Given the description of an element on the screen output the (x, y) to click on. 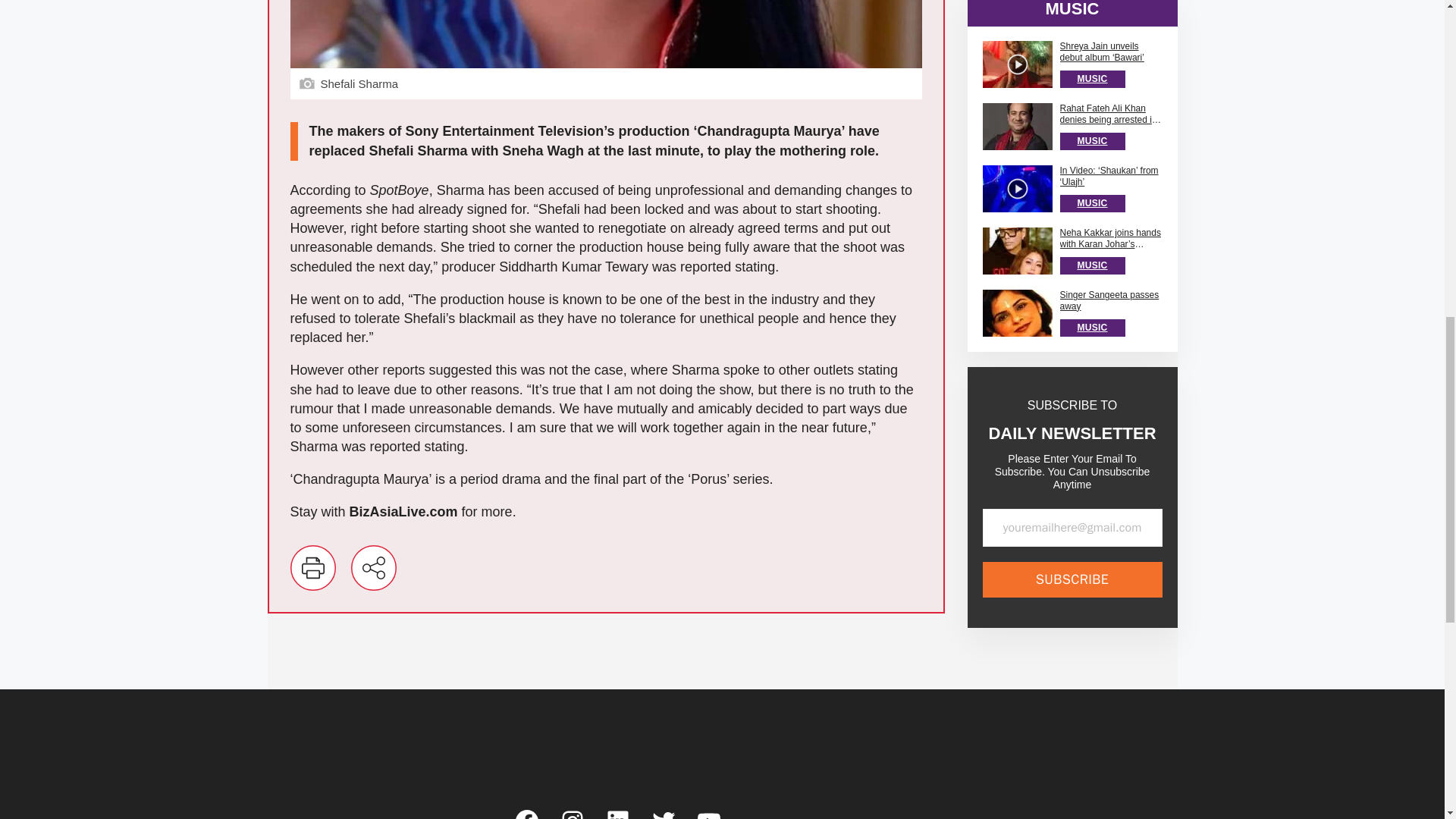
Subscribe (1071, 396)
